Given the description of an element on the screen output the (x, y) to click on. 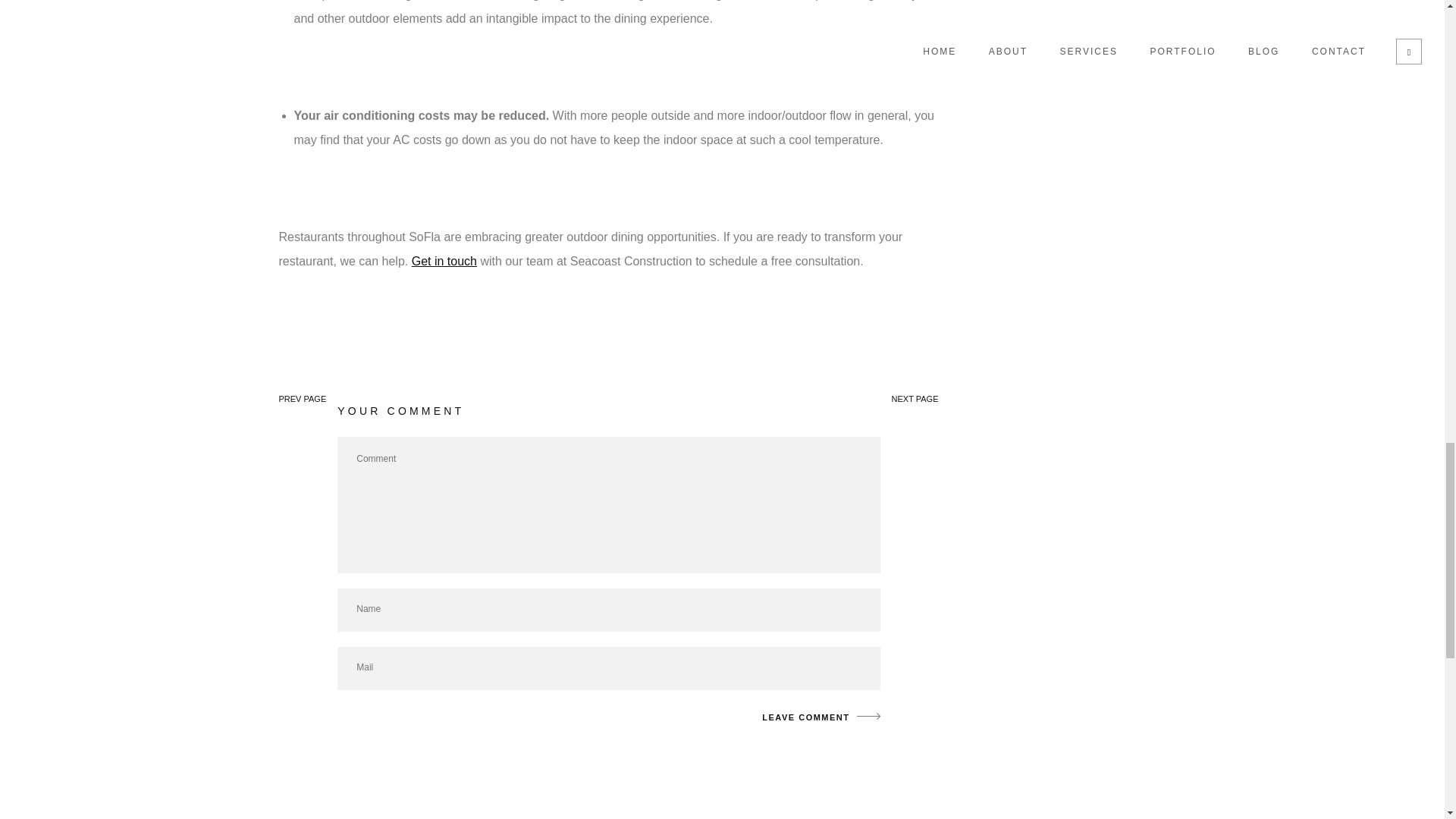
LEAVE COMMENT (816, 717)
PREV PAGE (302, 398)
NEXT PAGE (915, 398)
Get in touch (444, 260)
LEAVE COMMENT (816, 717)
